Given the description of an element on the screen output the (x, y) to click on. 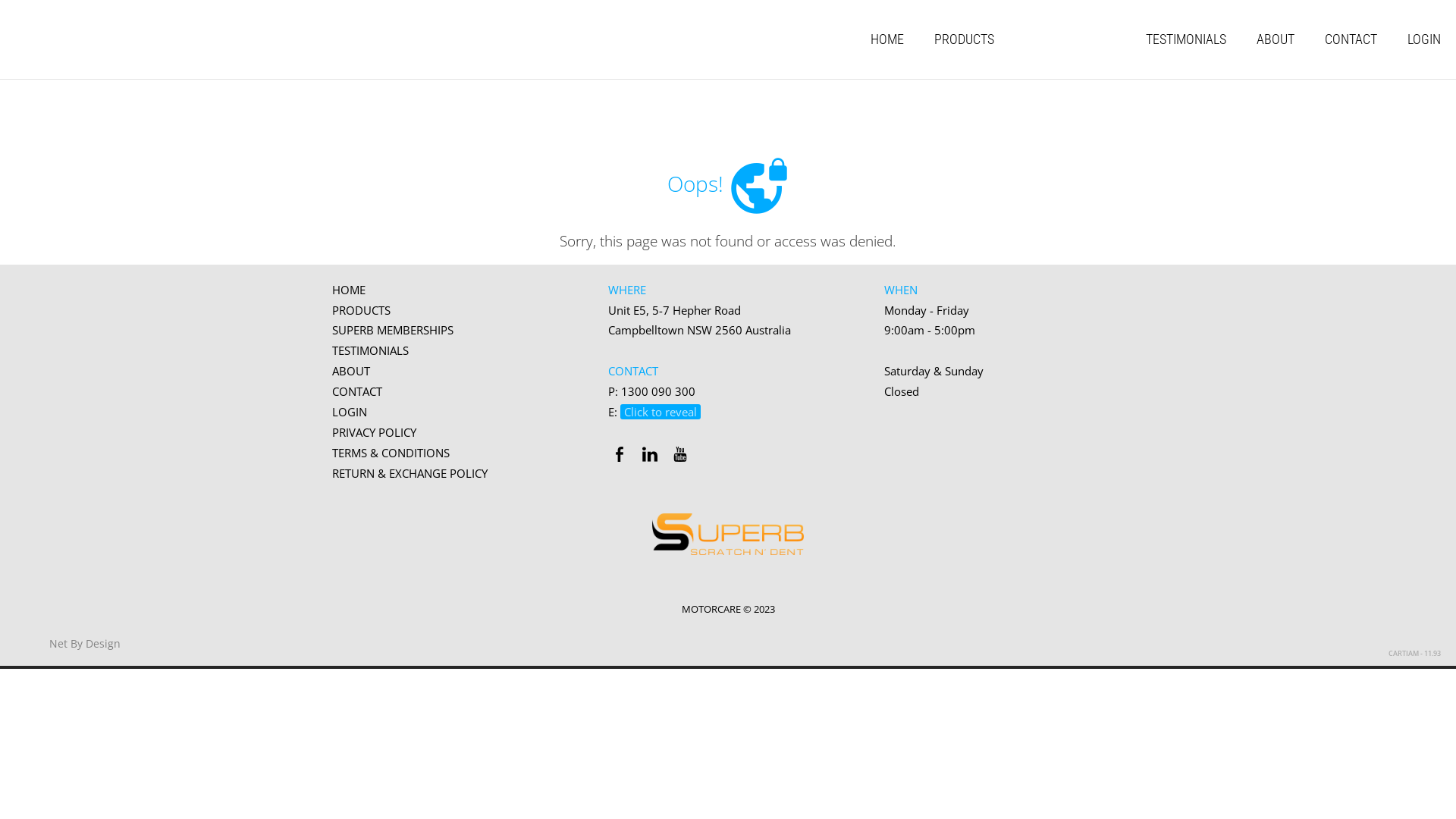
Net By Design Element type: text (71, 645)
PRODUCTS Element type: text (361, 309)
TESTIMONIALS Element type: text (370, 349)
CONTACT Element type: text (357, 390)
TESTIMONIALS Element type: text (1185, 39)
Click to reveal Element type: text (660, 411)
Superb Memberships Element type: hover (1069, 39)
1300 090 300 Element type: text (658, 390)
CARTIAM - 11.93 Element type: text (1414, 653)
CONTACT Element type: text (1350, 39)
SUPERB MEMBERSHIPS Element type: text (392, 329)
LOGIN Element type: text (349, 411)
PRODUCTS Element type: text (964, 39)
RETURN & EXCHANGE POLICY Element type: text (409, 472)
TERMS & CONDITIONS Element type: text (390, 452)
HOME Element type: text (348, 289)
PRIVACY POLICY Element type: text (374, 431)
ABOUT Element type: text (351, 370)
ABOUT Element type: text (1275, 39)
HOME Element type: text (887, 39)
